Given the description of an element on the screen output the (x, y) to click on. 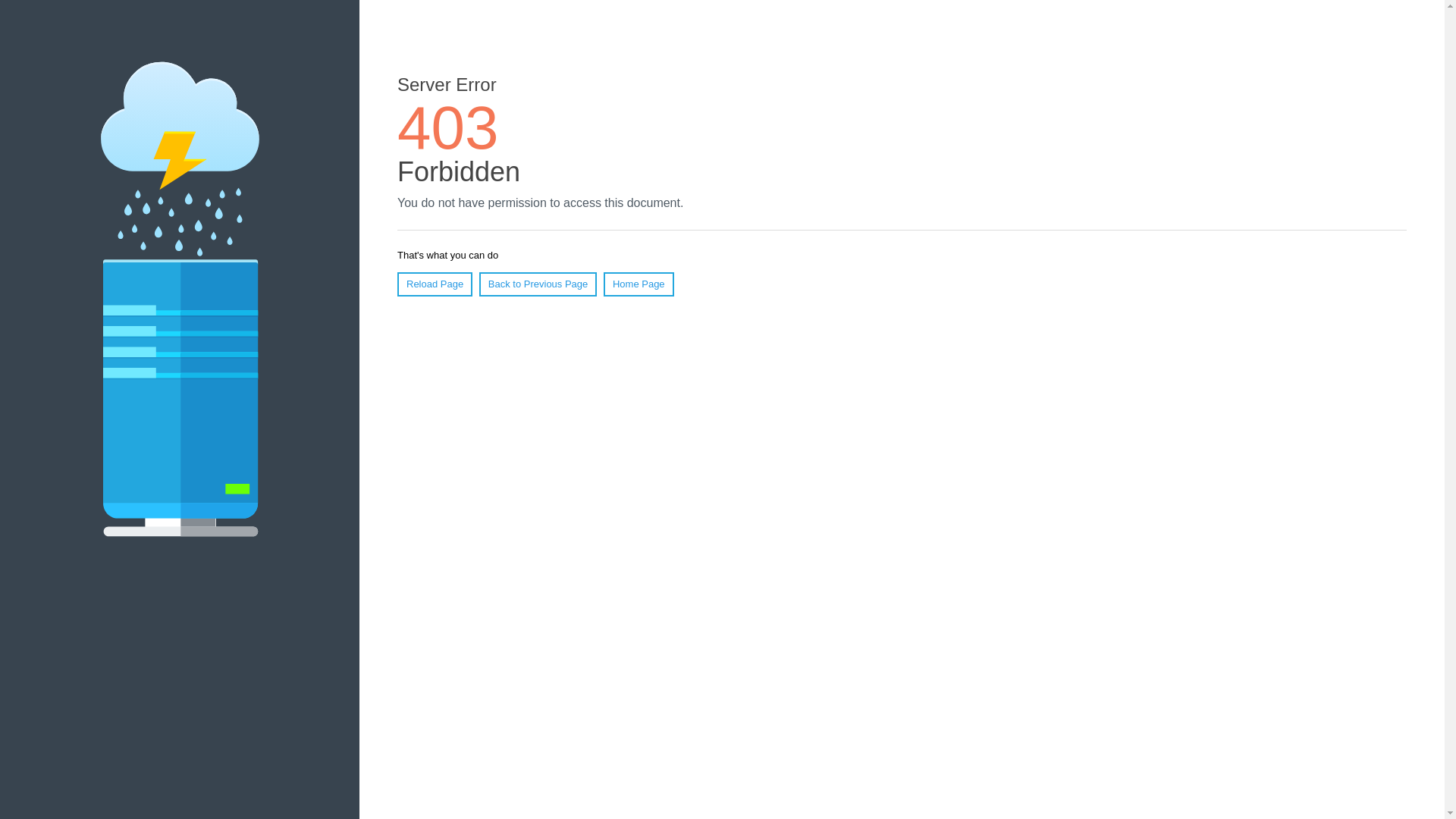
Back to Previous Page Element type: text (538, 284)
Home Page Element type: text (638, 284)
Reload Page Element type: text (434, 284)
